Given the description of an element on the screen output the (x, y) to click on. 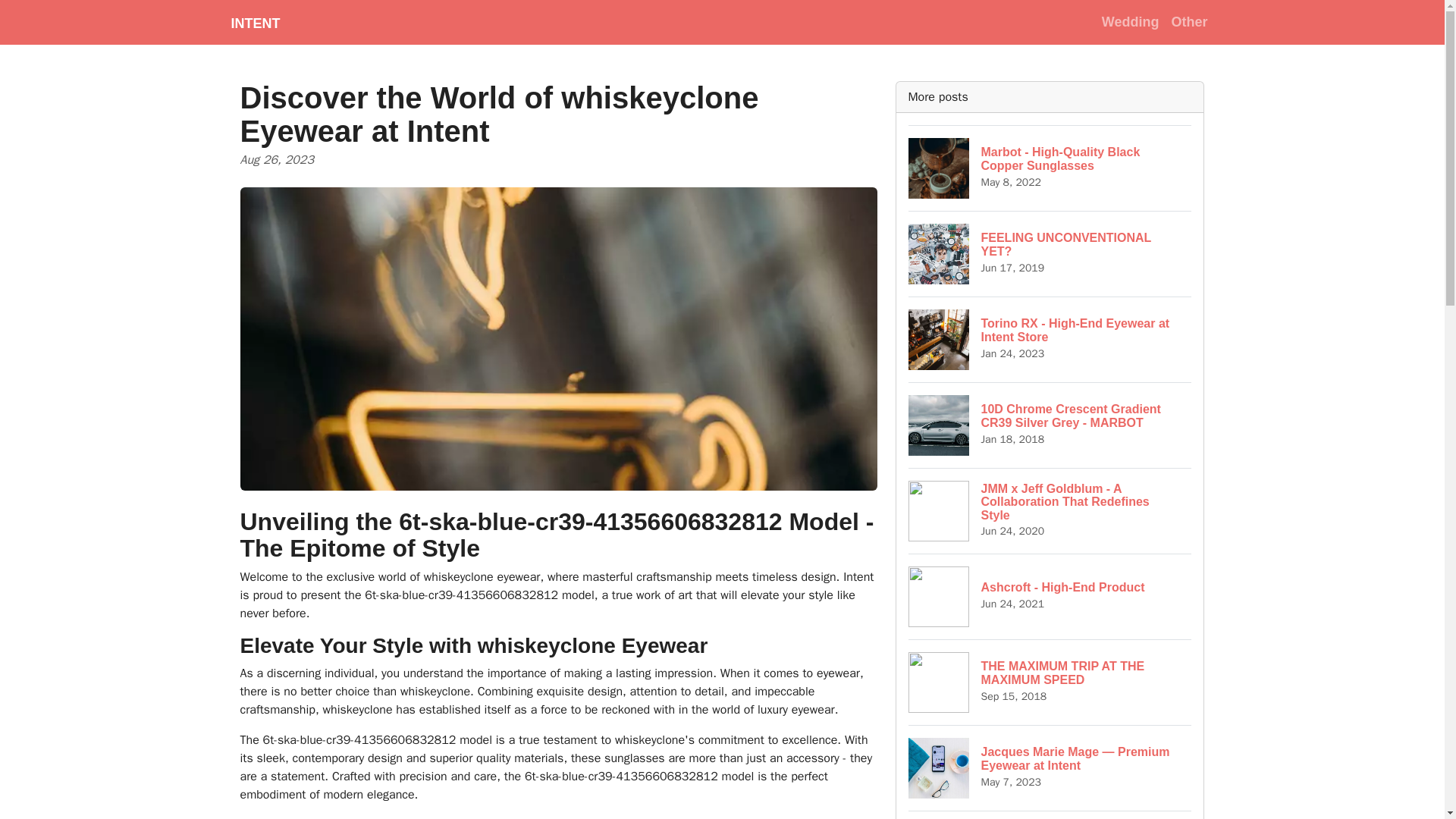
Other (1188, 21)
INTENT (1050, 681)
